Given the description of an element on the screen output the (x, y) to click on. 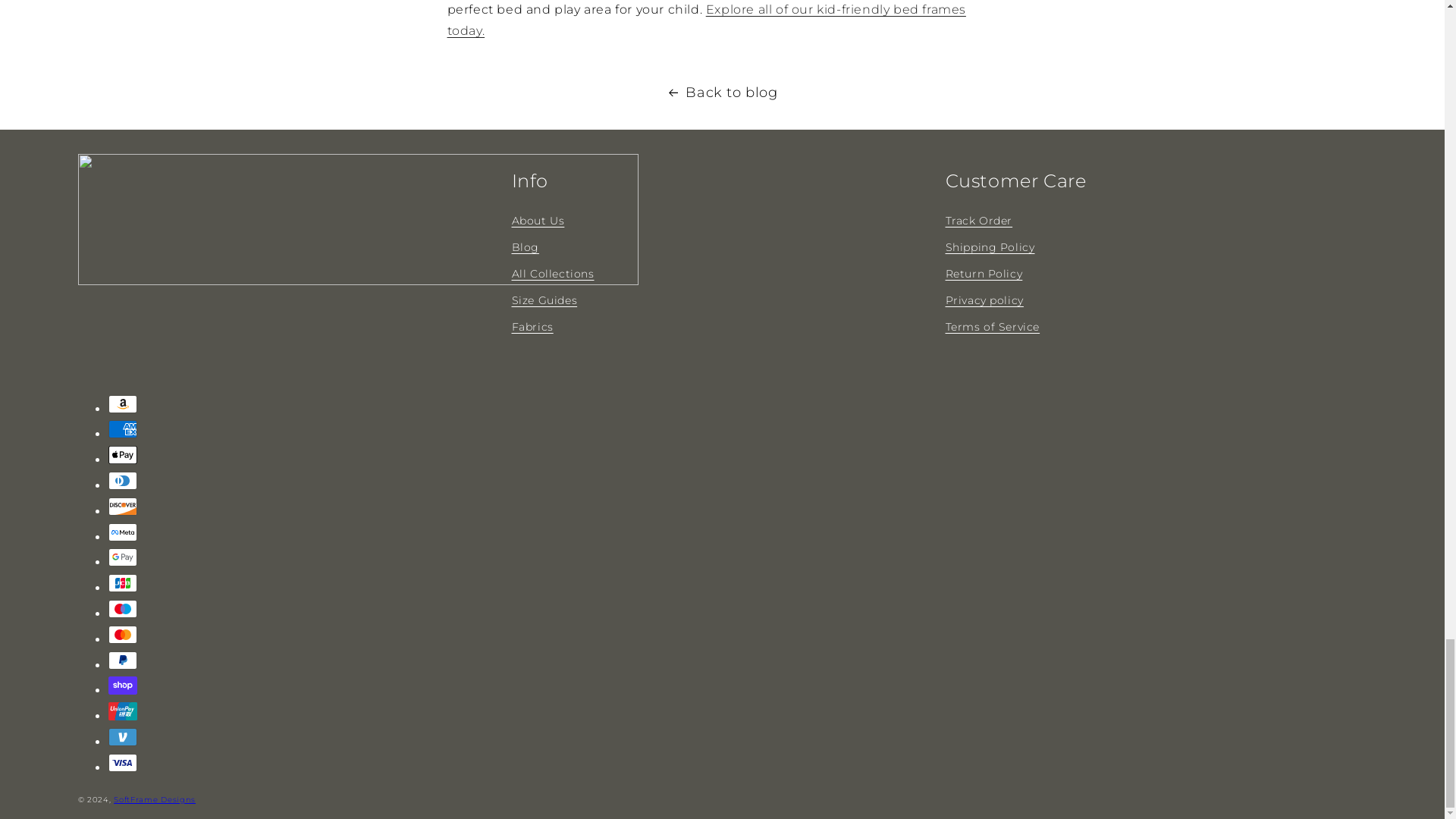
Google Pay (121, 556)
Amazon (121, 403)
American Express (121, 429)
Mastercard (121, 634)
Meta Pay (121, 532)
Apple Pay (121, 454)
Maestro (121, 608)
PayPal (121, 660)
JCB (121, 583)
Diners Club (121, 480)
